Given the description of an element on the screen output the (x, y) to click on. 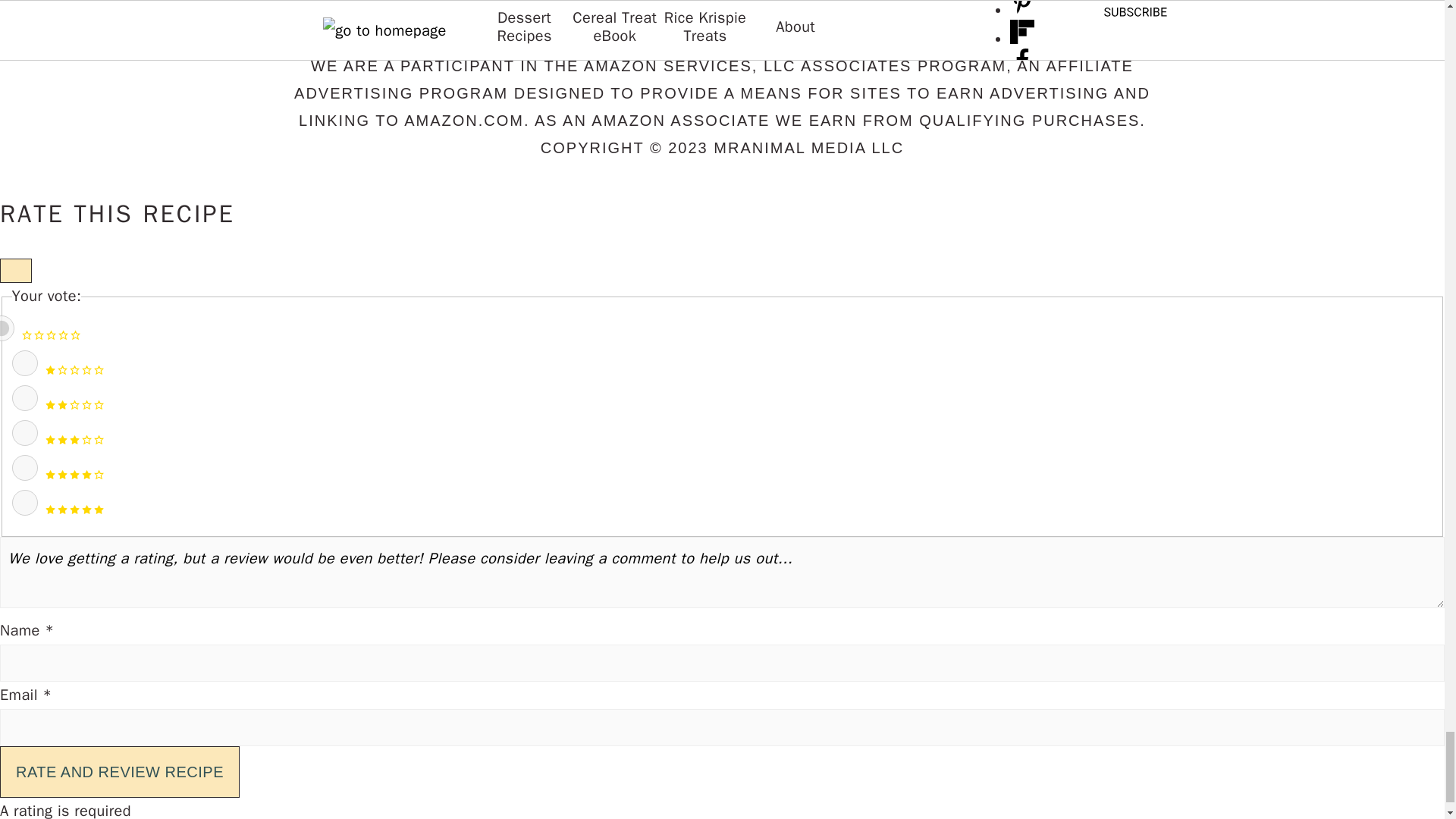
5 (24, 502)
1 (24, 362)
4 (24, 467)
2 (24, 397)
3 (24, 432)
